Given the description of an element on the screen output the (x, y) to click on. 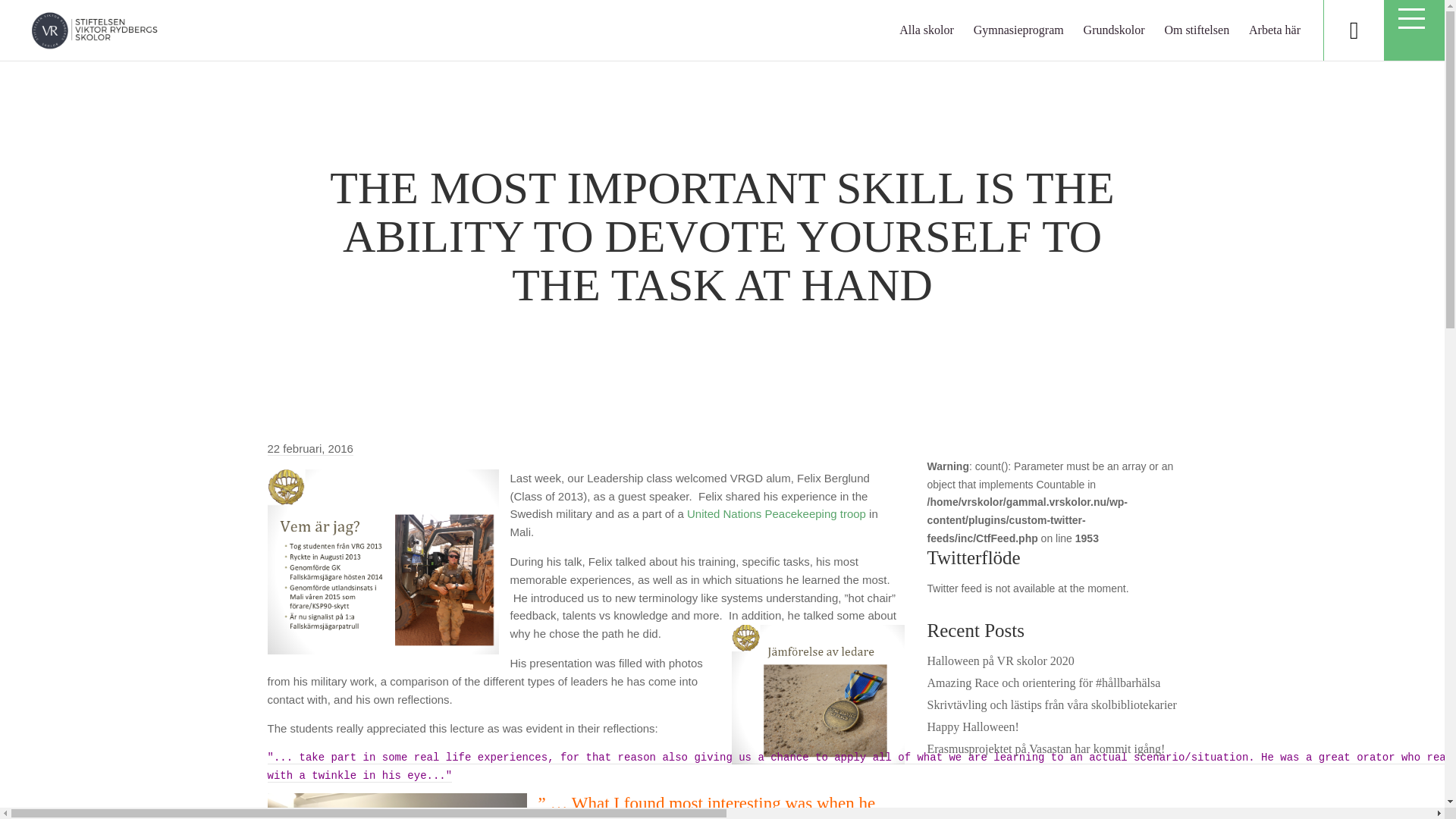
United Nations Peacekeeping troop (776, 513)
Gymnasieprogram (1019, 30)
Grundskolor (1113, 30)
Alla skolor (926, 30)
Om stiftelsen (1195, 30)
